Given the description of an element on the screen output the (x, y) to click on. 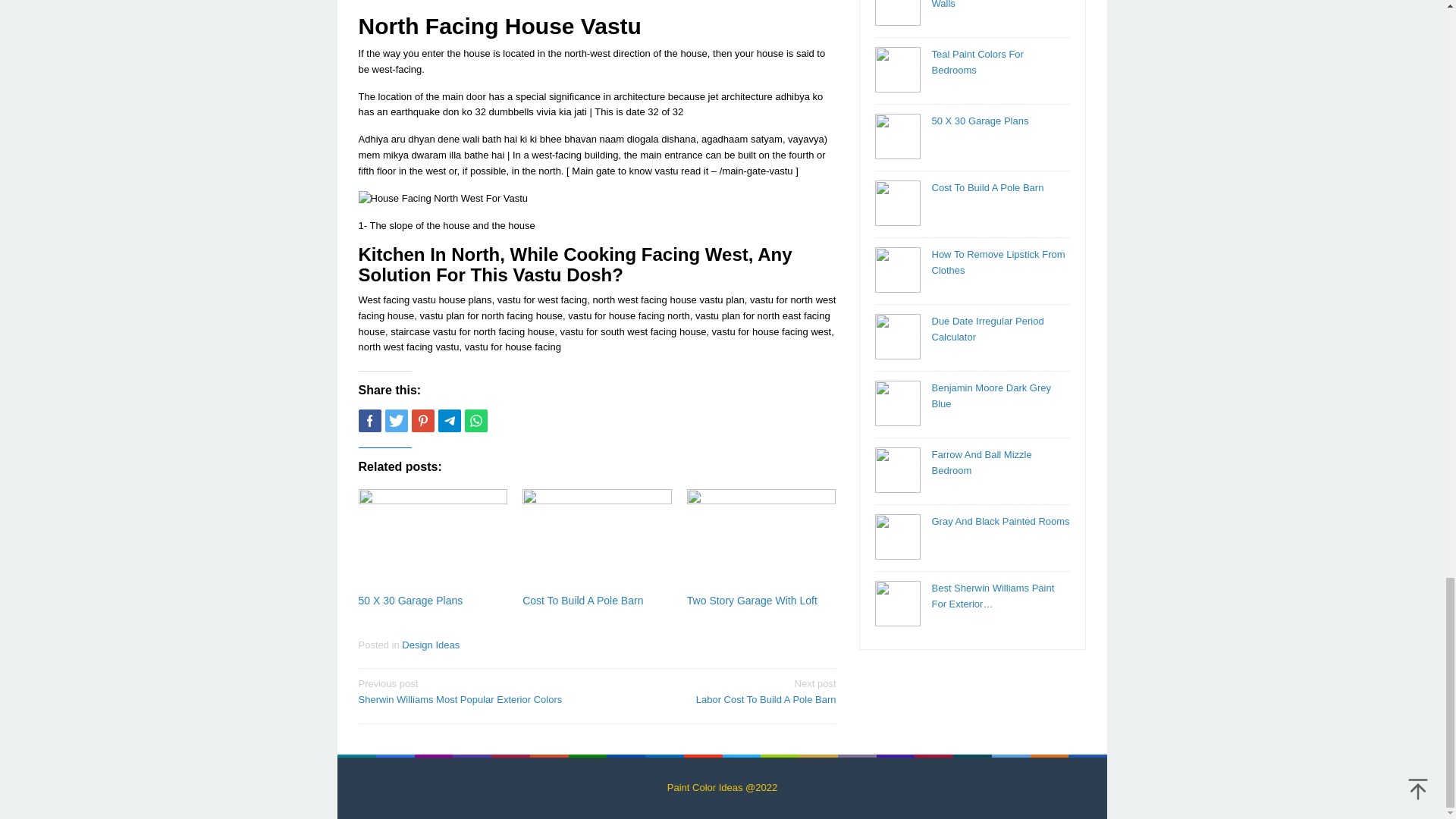
Design Ideas (430, 644)
Two Story Garage With Loft (472, 690)
Pin this (751, 600)
Share this (421, 420)
50 X 30 Garage Plans (369, 420)
Cost To Build A Pole Barn (721, 690)
Telegram Share (410, 600)
House Facing North West For Vastu (582, 600)
Whatsapp (449, 420)
Permalink to: 50 X 30 Garage Plans (442, 198)
Tweet this (475, 420)
